Given the description of an element on the screen output the (x, y) to click on. 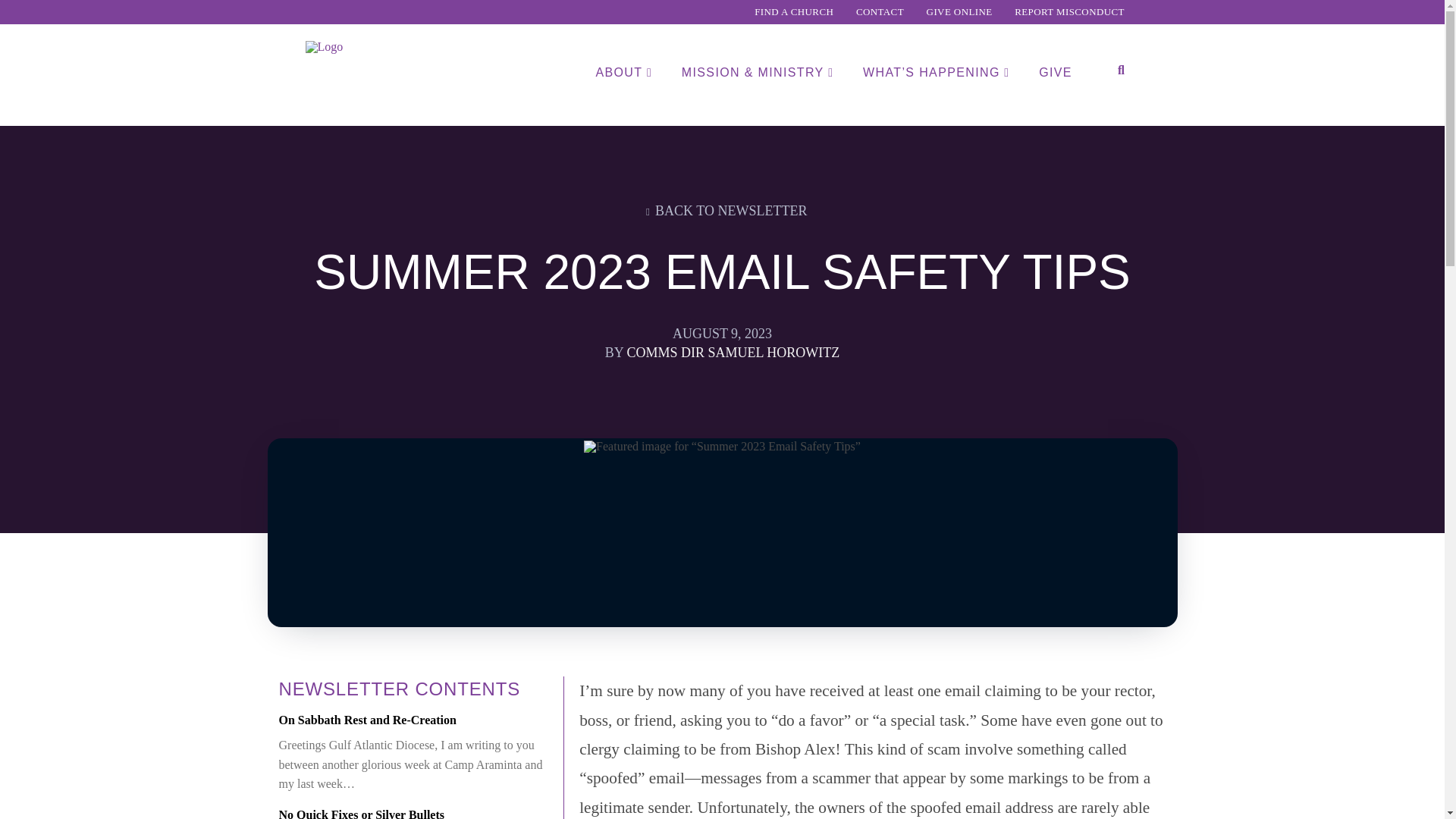
ABOUT (622, 94)
CONTACT (879, 12)
FIND A CHURCH (793, 12)
GIVE ONLINE (959, 12)
REPORT MISCONDUCT (1069, 12)
